Given the description of an element on the screen output the (x, y) to click on. 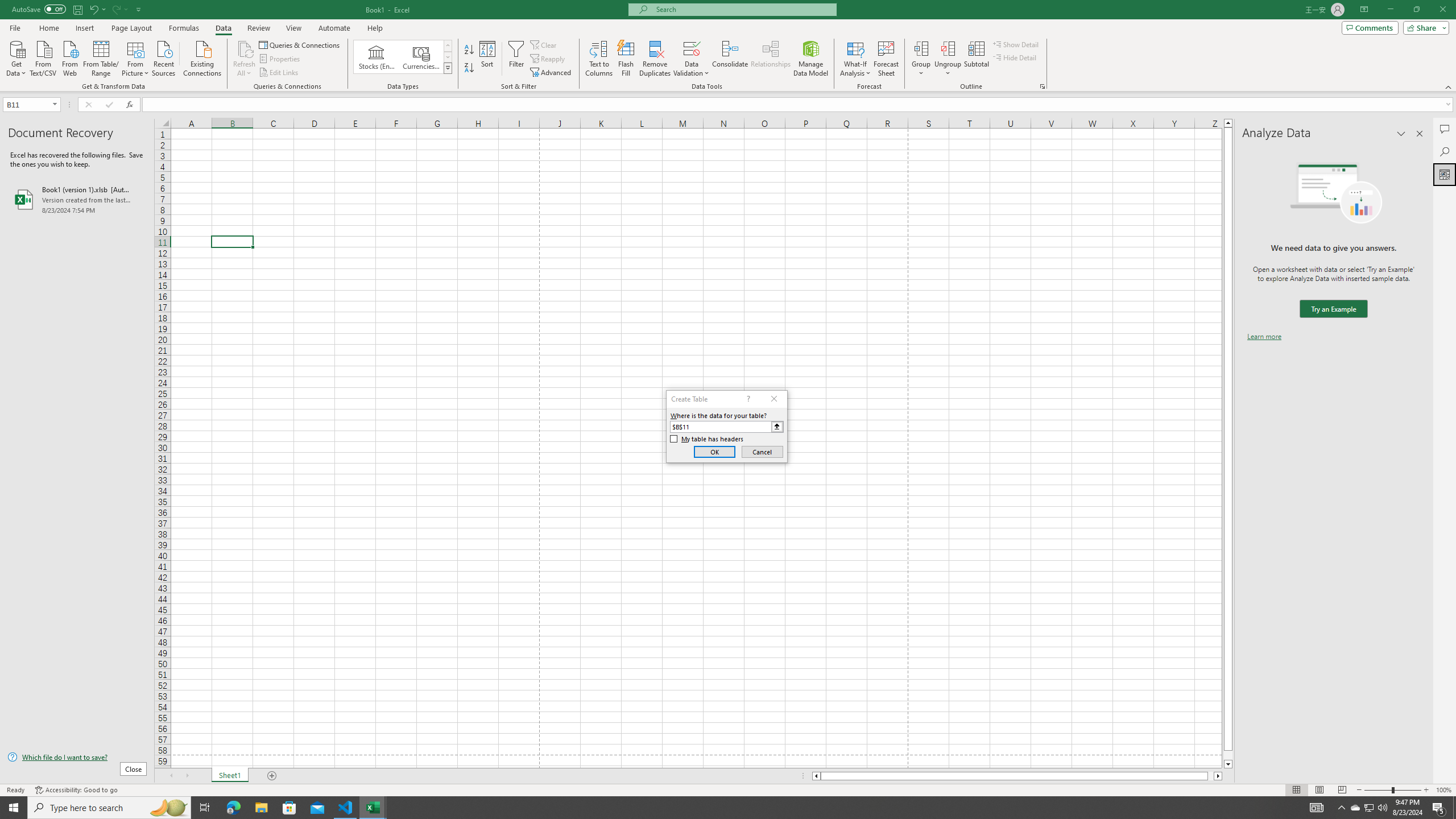
Undo (92, 9)
Ribbon Display Options (1364, 9)
Get Data (16, 57)
View (293, 28)
Forecast Sheet (885, 58)
File Tab (15, 27)
Remove Duplicates (654, 58)
Accessibility Checker Accessibility: Good to go (76, 790)
Relationships (770, 58)
Normal (1296, 790)
System (6, 6)
Recent Sources (163, 57)
Currencies (English) (420, 56)
